Given the description of an element on the screen output the (x, y) to click on. 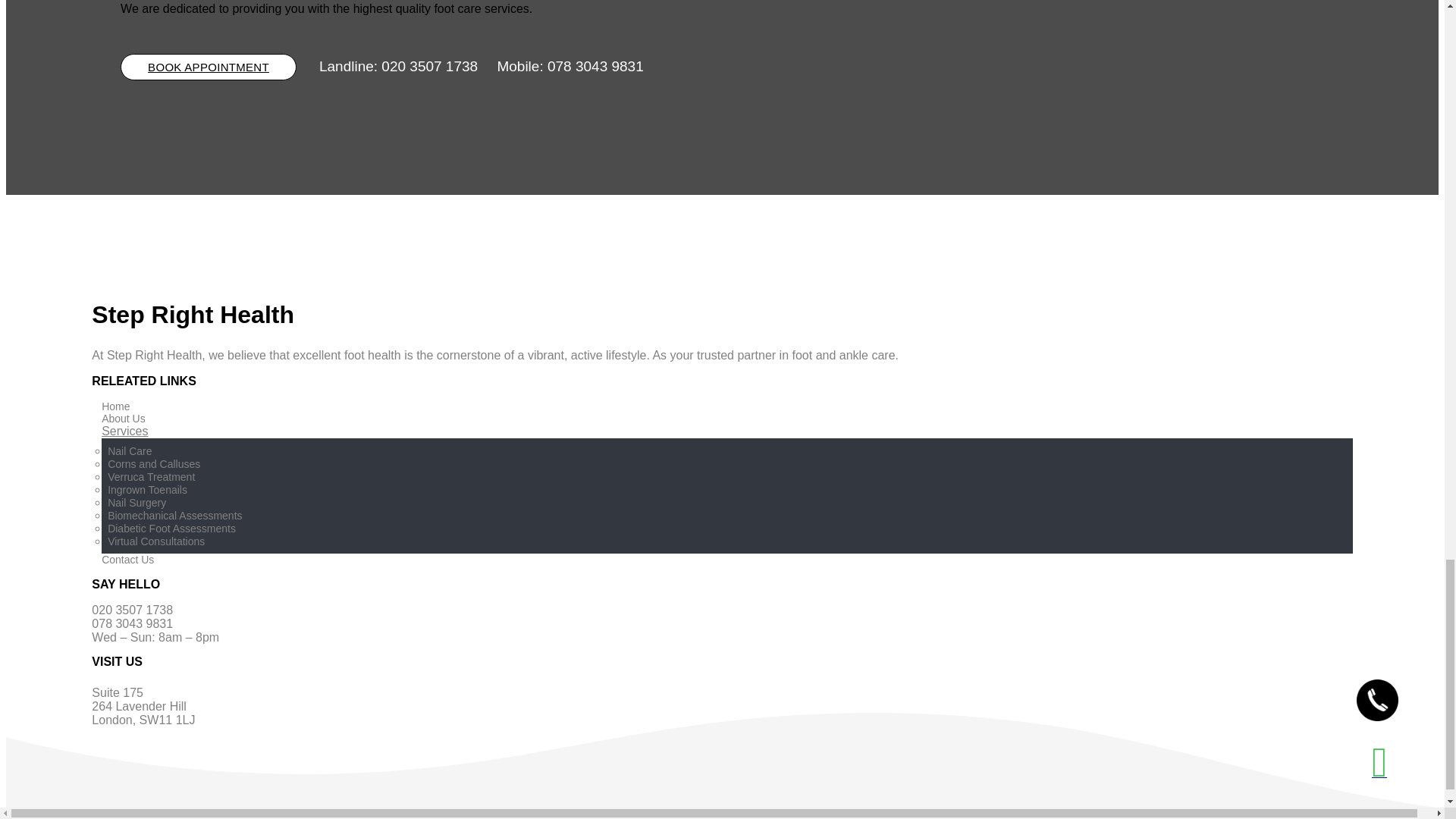
BOOK APPOINTMENT (208, 67)
Services (124, 431)
078 3043 9831 (595, 66)
